Given the description of an element on the screen output the (x, y) to click on. 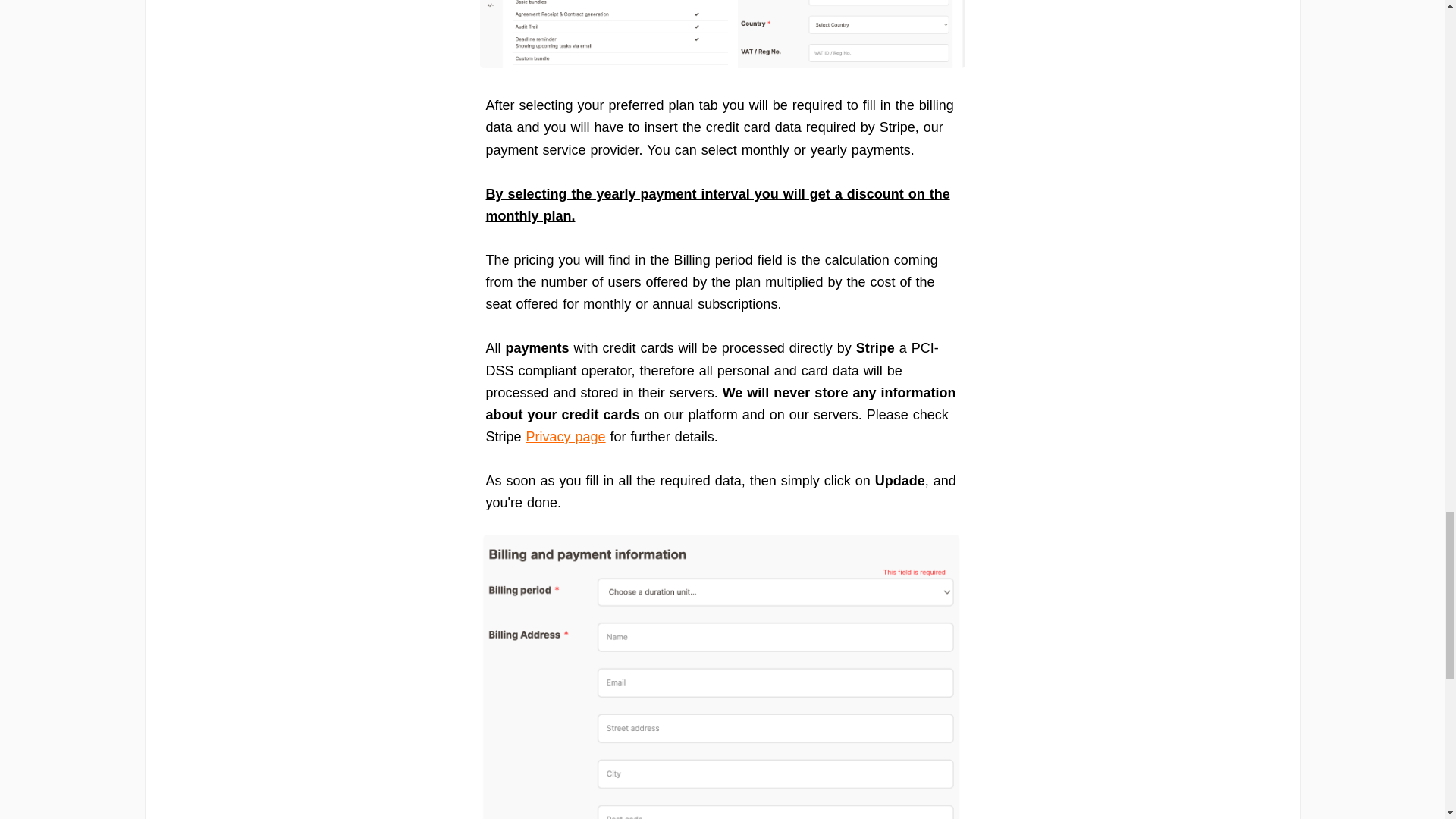
Privacy page (565, 436)
